Given the description of an element on the screen output the (x, y) to click on. 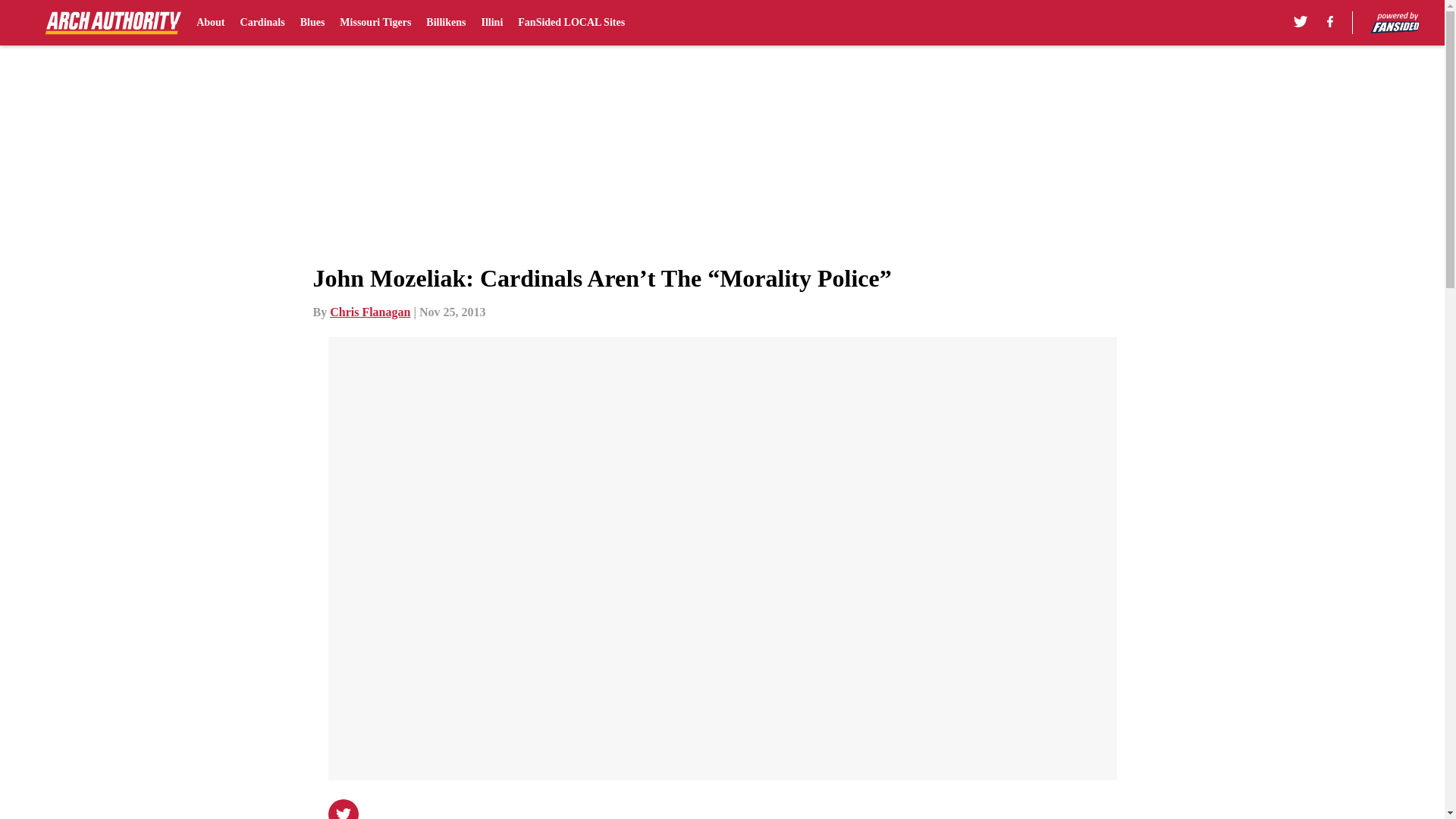
FanSided LOCAL Sites (571, 22)
Cardinals (262, 22)
Billikens (445, 22)
Chris Flanagan (370, 311)
Blues (311, 22)
Missouri Tigers (374, 22)
Illini (491, 22)
About (210, 22)
